Given the description of an element on the screen output the (x, y) to click on. 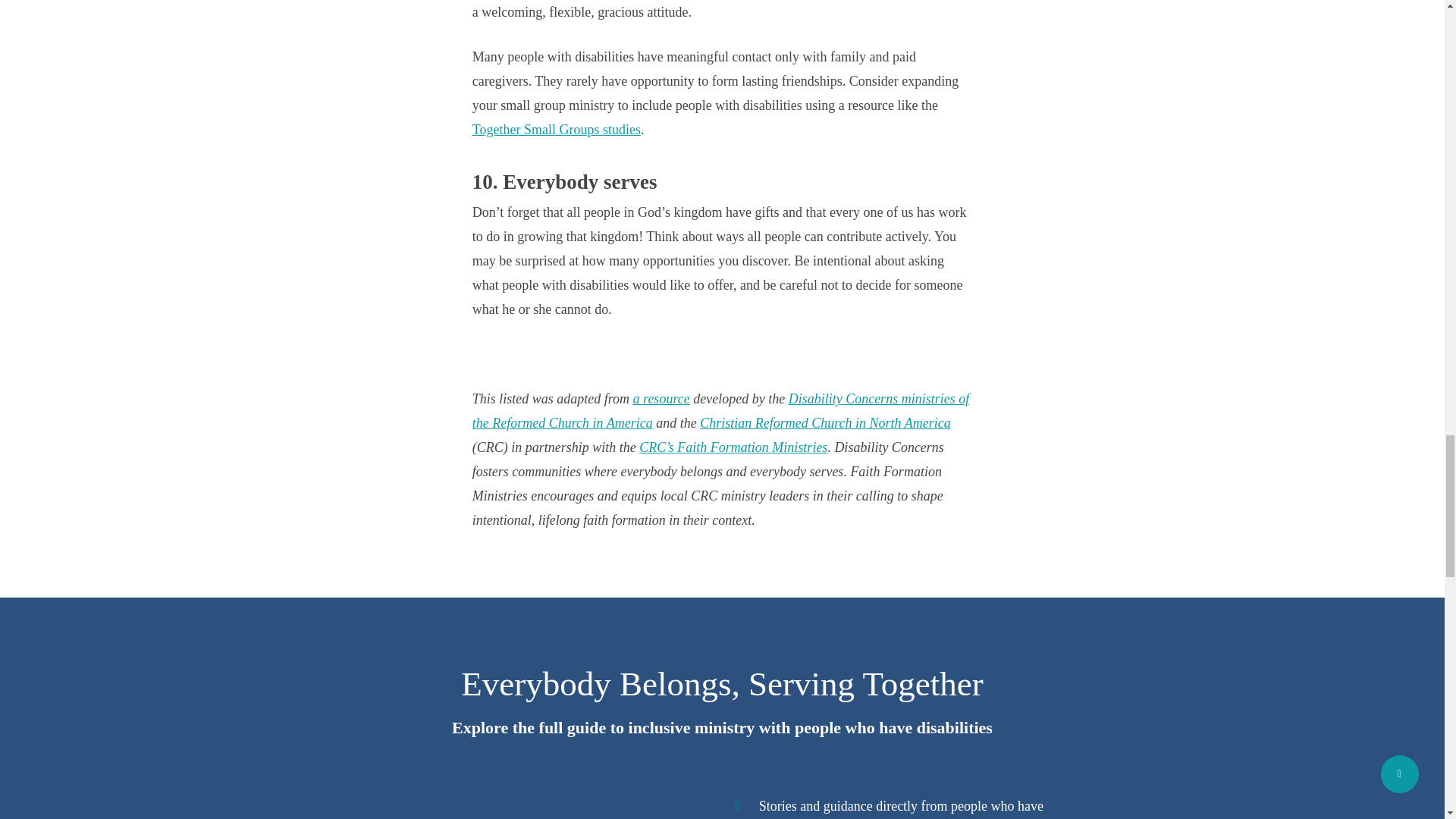
Everybody Belongs, Serving Together Guide (528, 806)
Together Small Groups studies (555, 129)
Christian Reformed Church in North America (825, 422)
a resource (661, 398)
Everybody Belongs, Serving Together Guide (722, 737)
